Given the description of an element on the screen output the (x, y) to click on. 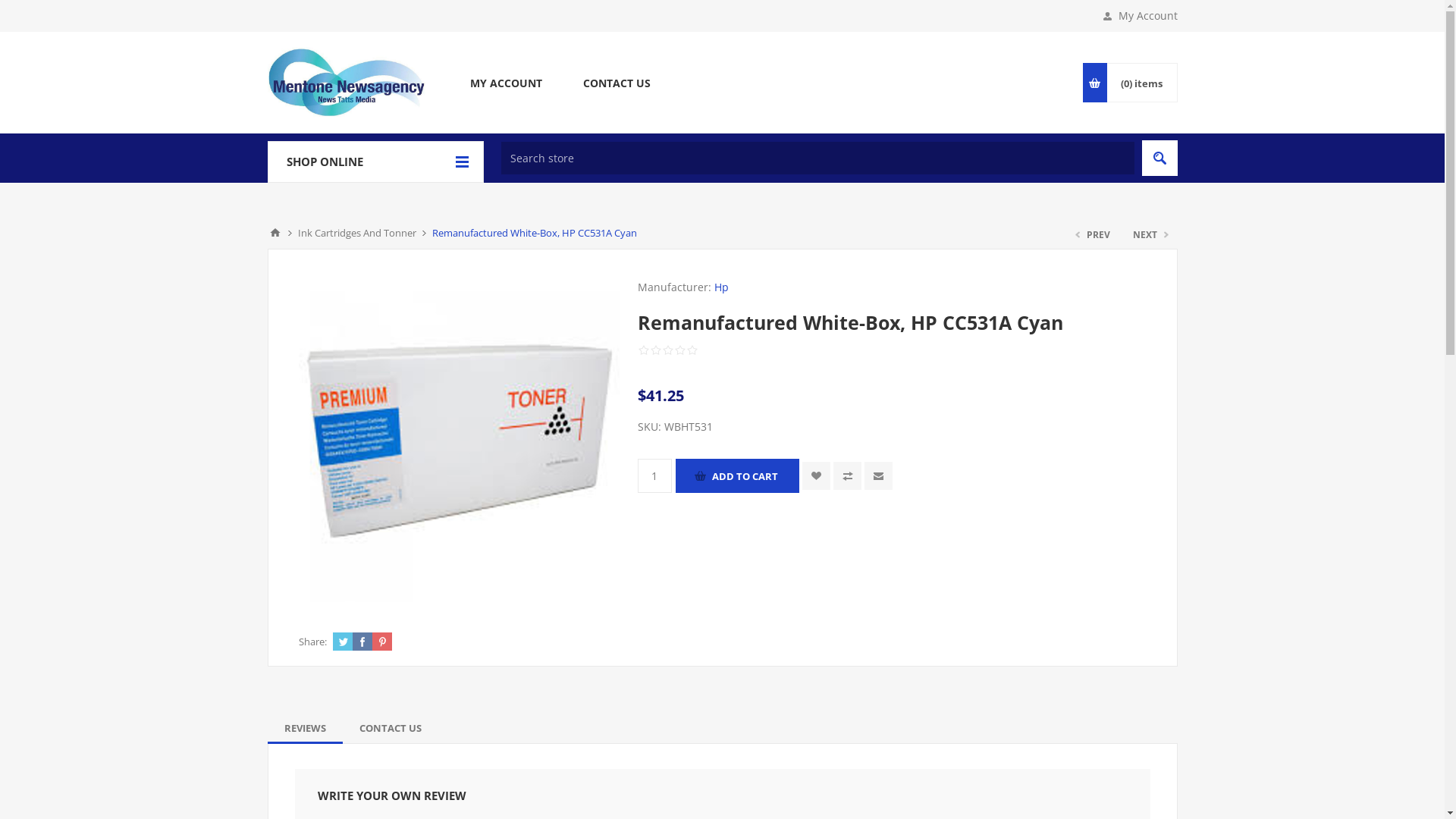
Add to compare list Element type: text (847, 475)
CONTACT US Element type: text (616, 83)
Ink Cartridges And Tonner Element type: text (356, 232)
Hp Element type: text (721, 286)
Email a friend Element type: text (878, 475)
Home Element type: text (274, 232)
(0) items Element type: text (1140, 82)
Search Element type: text (1159, 157)
CONTACT US Element type: text (390, 727)
Add to wishlist Element type: text (816, 475)
NEXT Element type: text (1148, 234)
REVIEWS Element type: text (304, 727)
MY ACCOUNT Element type: text (504, 83)
PREV Element type: text (1093, 234)
